Given the description of an element on the screen output the (x, y) to click on. 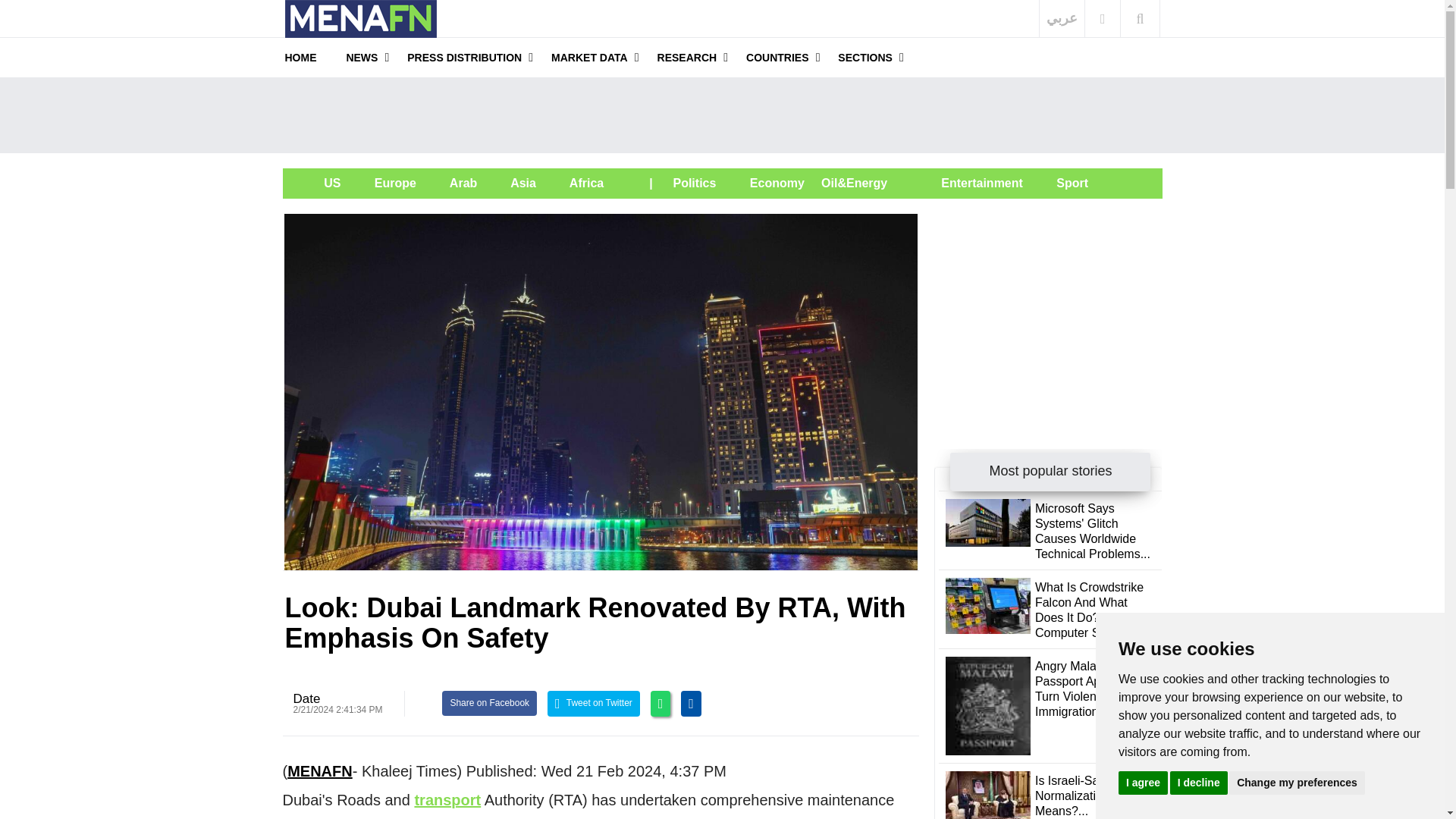
Advertisement (721, 115)
Posts by NewEdge (306, 698)
Advertisement (1047, 308)
I agree (1142, 781)
MARKET DATA (589, 56)
PRESS DISTRIBUTION (464, 56)
Change my preferences (1296, 781)
I decline (1198, 781)
